Given the description of an element on the screen output the (x, y) to click on. 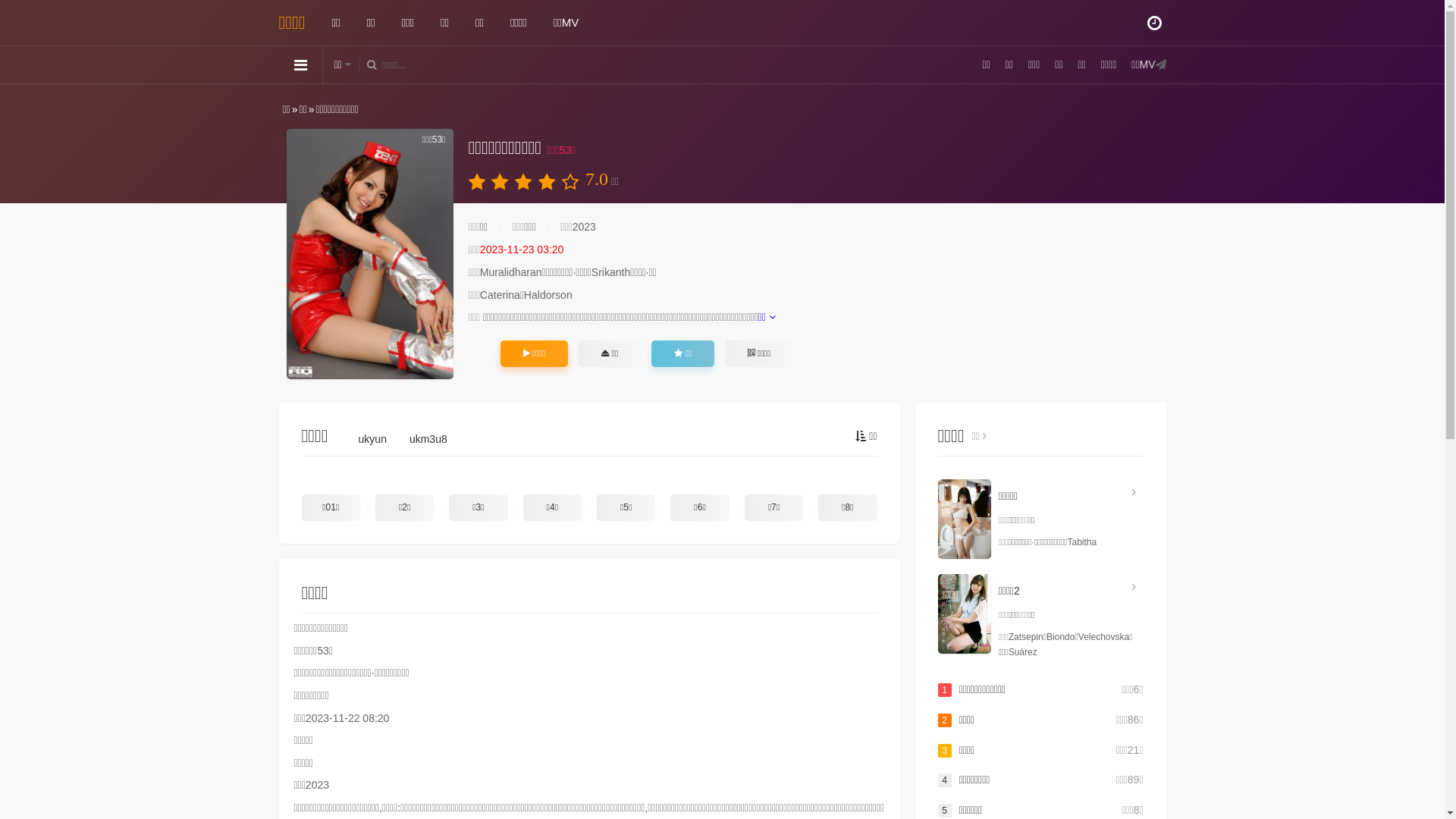
ukyun Element type: text (372, 442)
ukm3u8 Element type: text (428, 442)
